Given the description of an element on the screen output the (x, y) to click on. 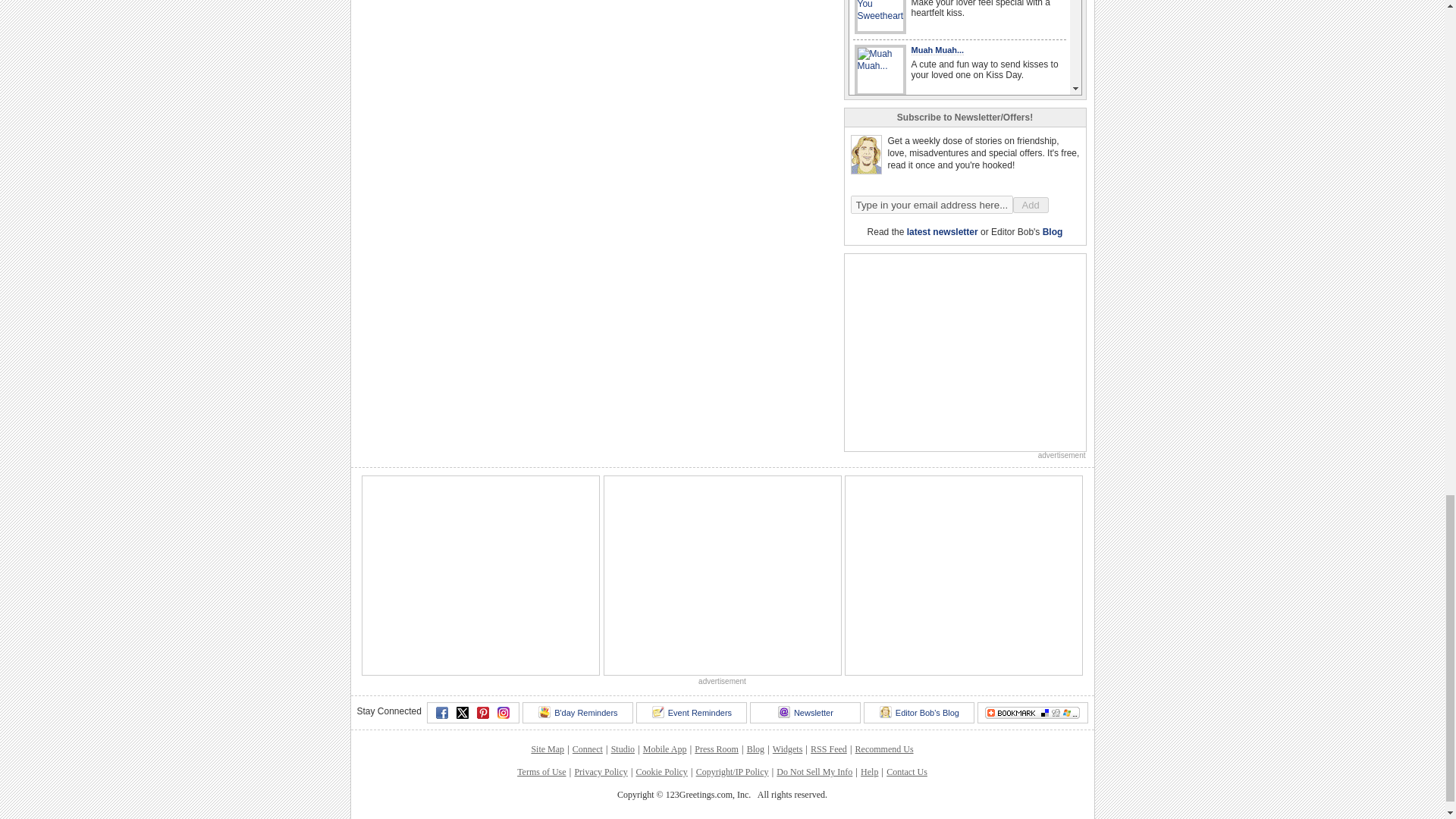
Type in your email address here... (931, 204)
